Given the description of an element on the screen output the (x, y) to click on. 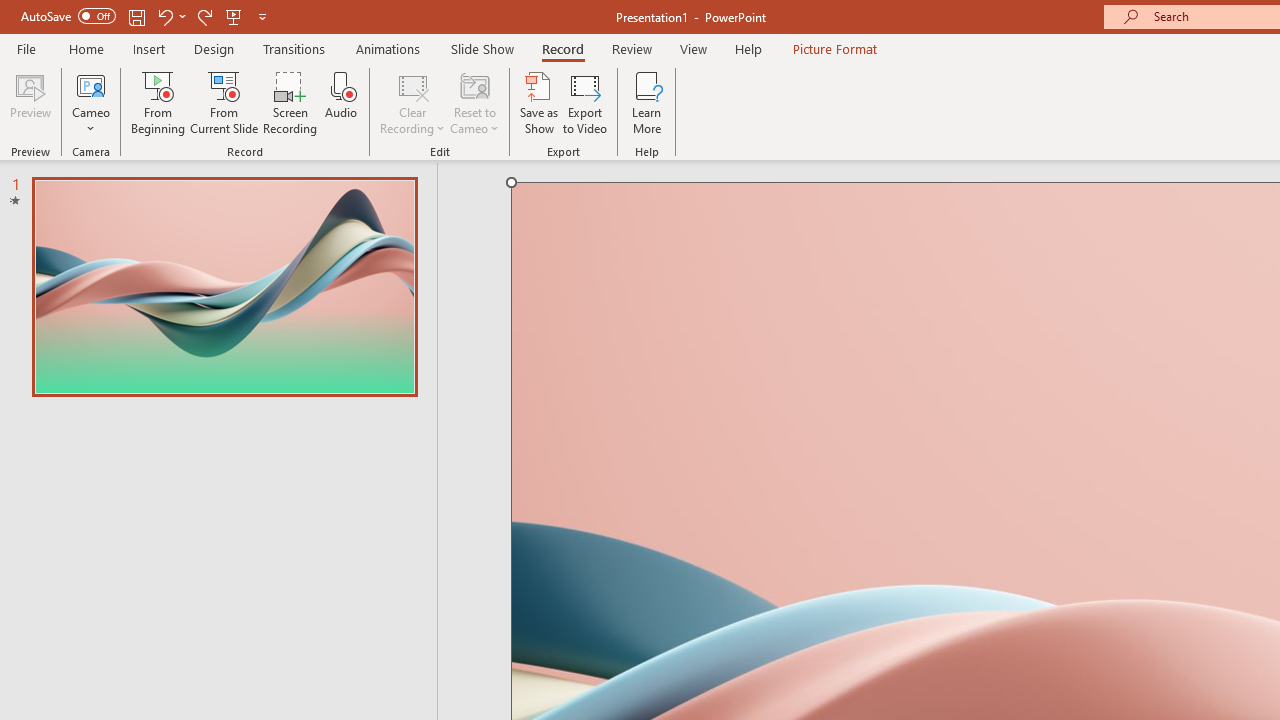
Export to Video (585, 102)
Save as Show (539, 102)
